Given the description of an element on the screen output the (x, y) to click on. 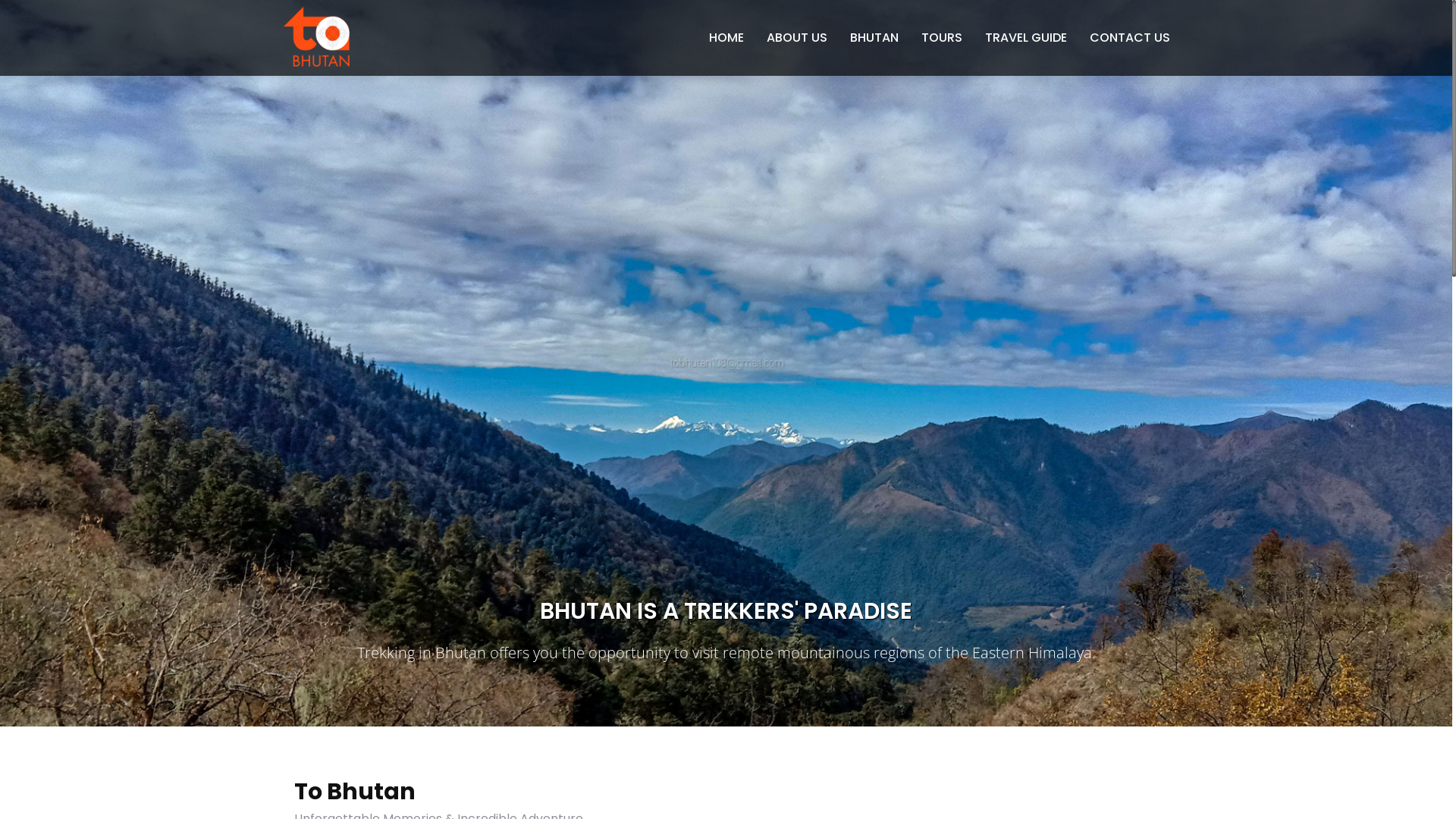
ABOUT US Element type: text (796, 37)
CONTACT US Element type: text (1124, 37)
TOURS Element type: text (941, 37)
BHUTAN Element type: text (874, 37)
TRAVEL GUIDE Element type: text (1025, 37)
HOME Element type: text (731, 37)
